Given the description of an element on the screen output the (x, y) to click on. 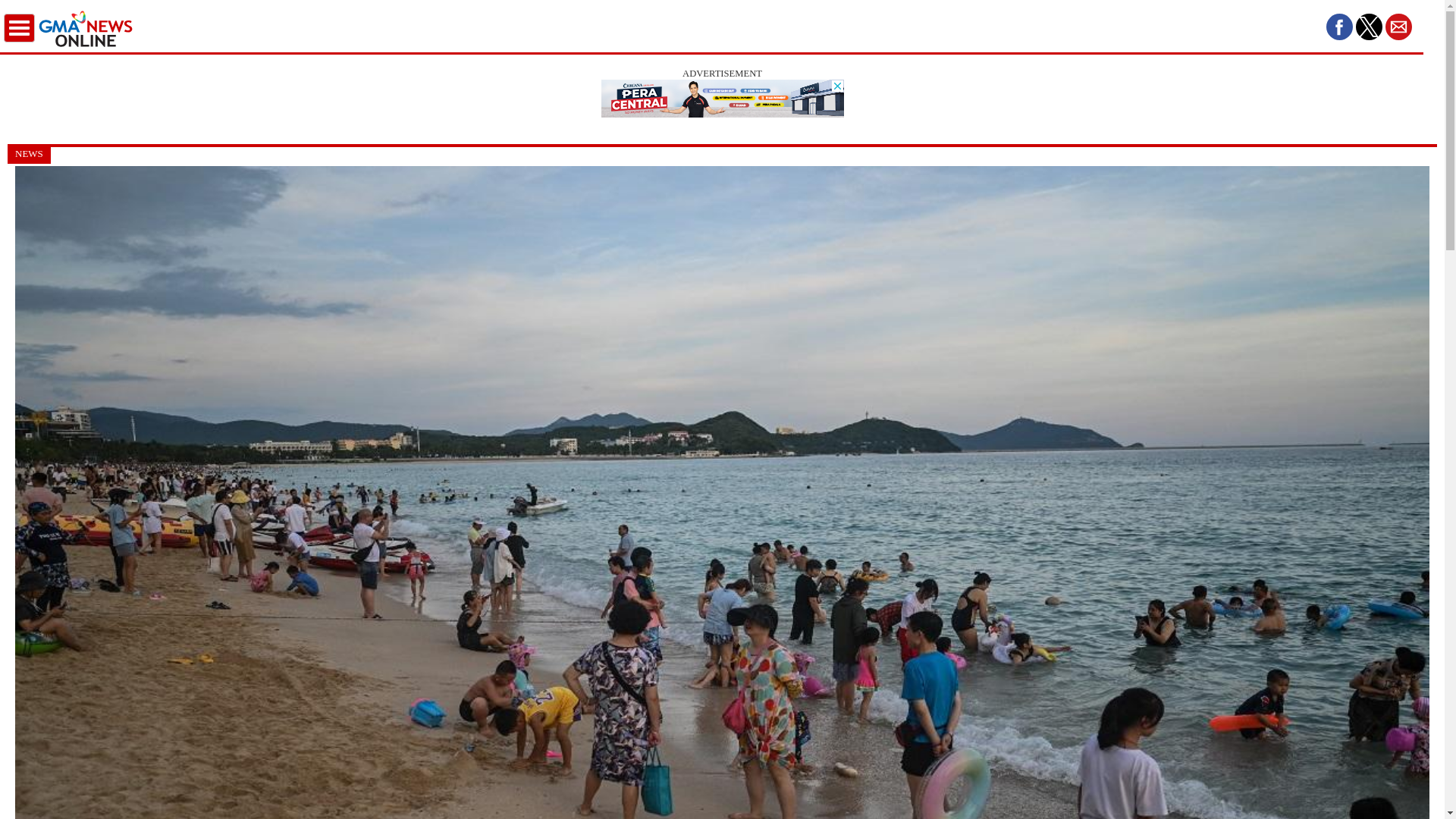
3rd party ad content (721, 98)
